Given the description of an element on the screen output the (x, y) to click on. 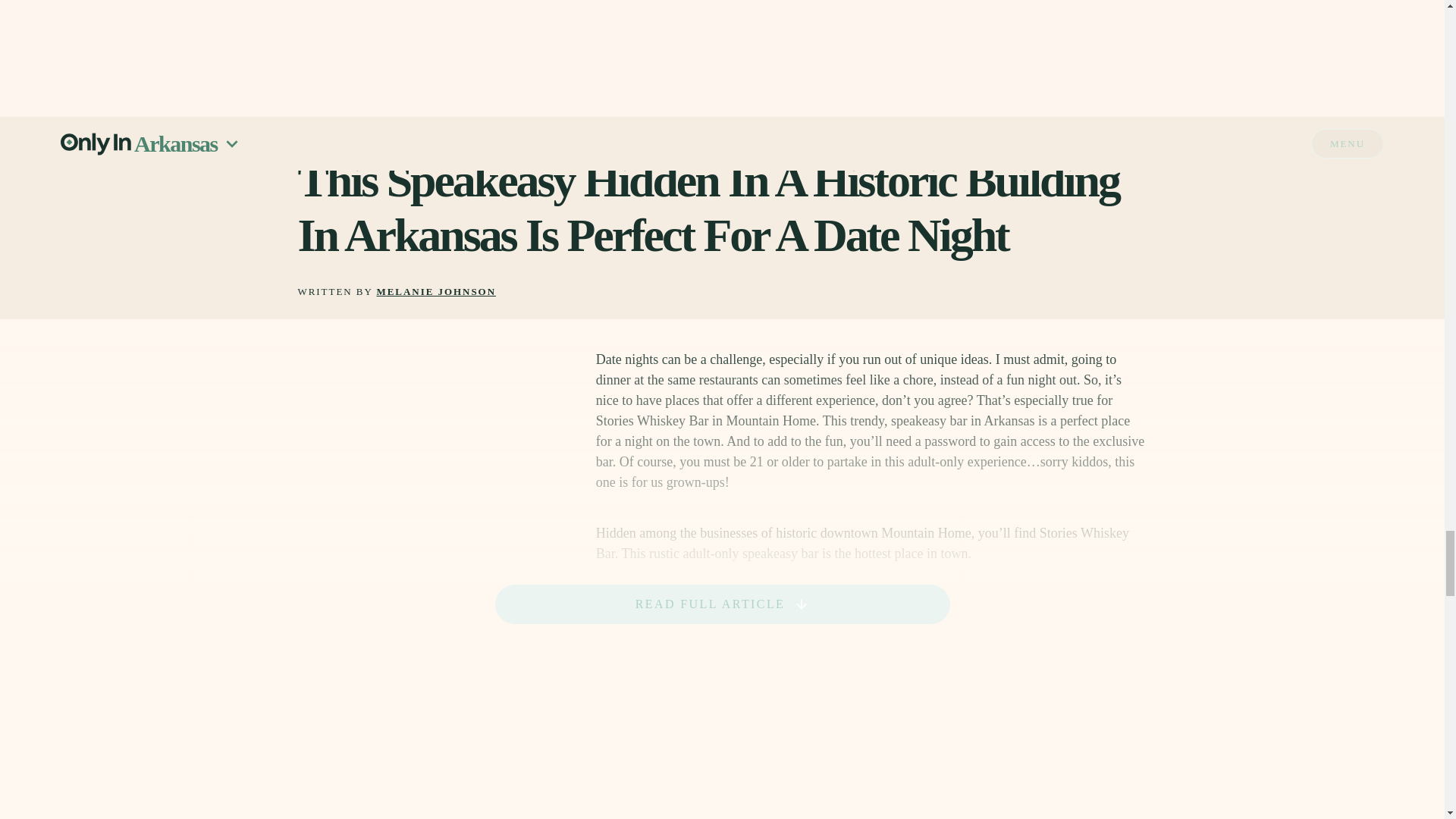
SHARE LINK (1091, 125)
MELANIE JOHNSON (436, 292)
FOOD (313, 126)
